Given the description of an element on the screen output the (x, y) to click on. 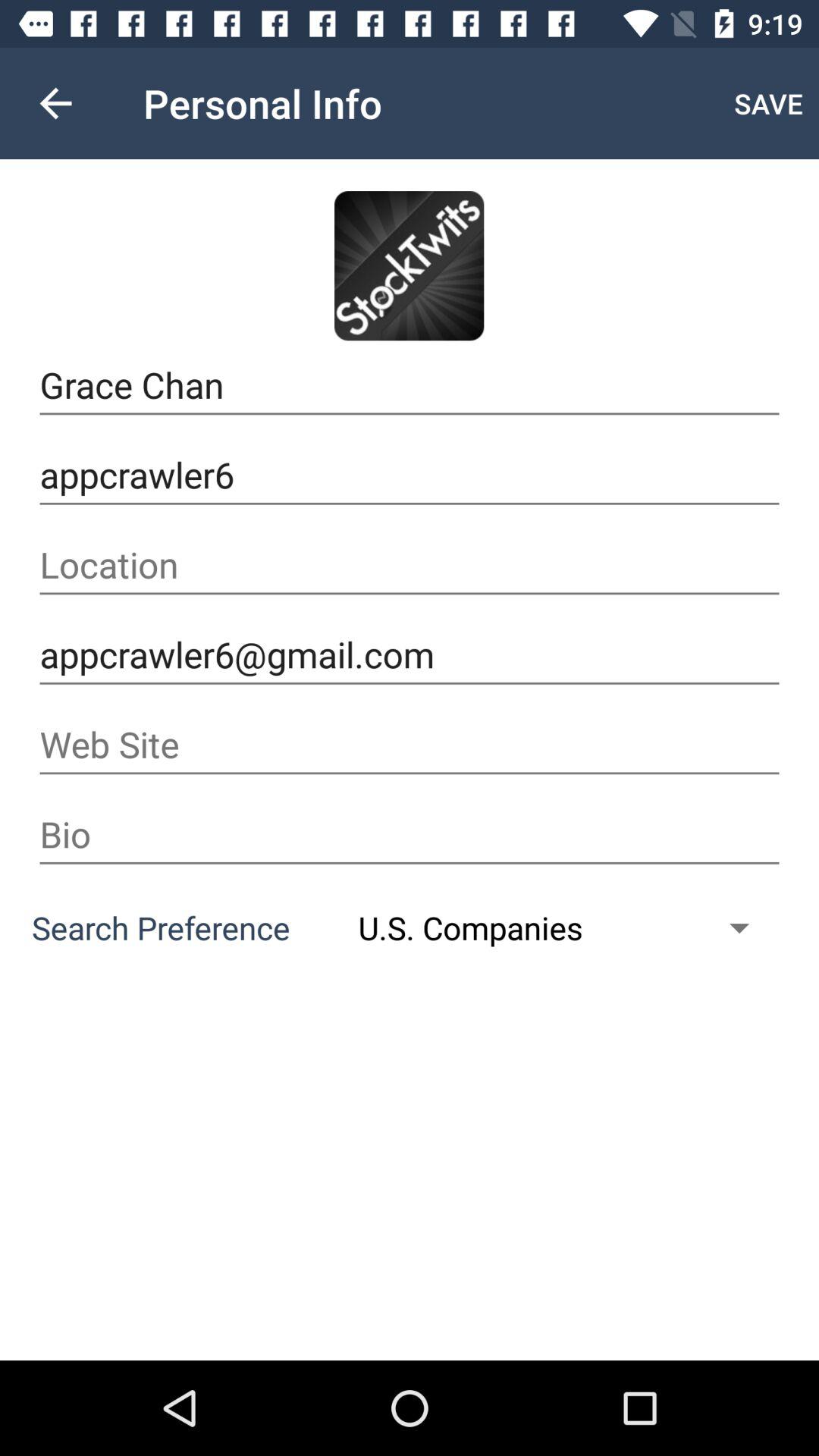
tap the grace chan item (409, 385)
